Given the description of an element on the screen output the (x, y) to click on. 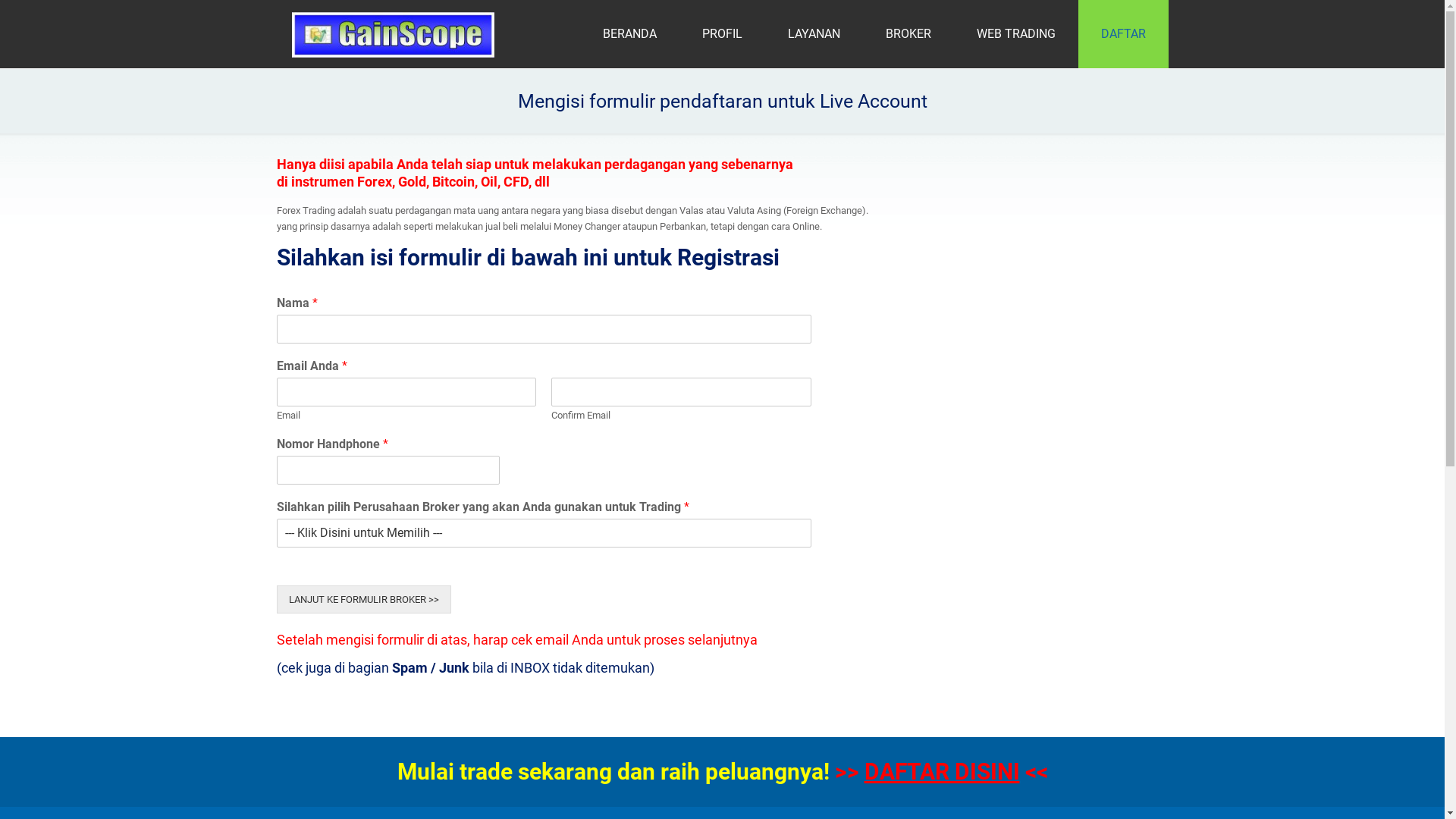
DAFTAR Element type: text (1123, 34)
LANJUT KE FORMULIR BROKER >> Element type: text (363, 599)
>> DAFTAR DISINI << Element type: text (940, 771)
WEB TRADING Element type: text (1015, 34)
PROFIL Element type: text (722, 34)
Gainscope Trade Element type: hover (392, 34)
LAYANAN Element type: text (813, 34)
BERANDA Element type: text (628, 34)
BROKER Element type: text (907, 34)
